Given the description of an element on the screen output the (x, y) to click on. 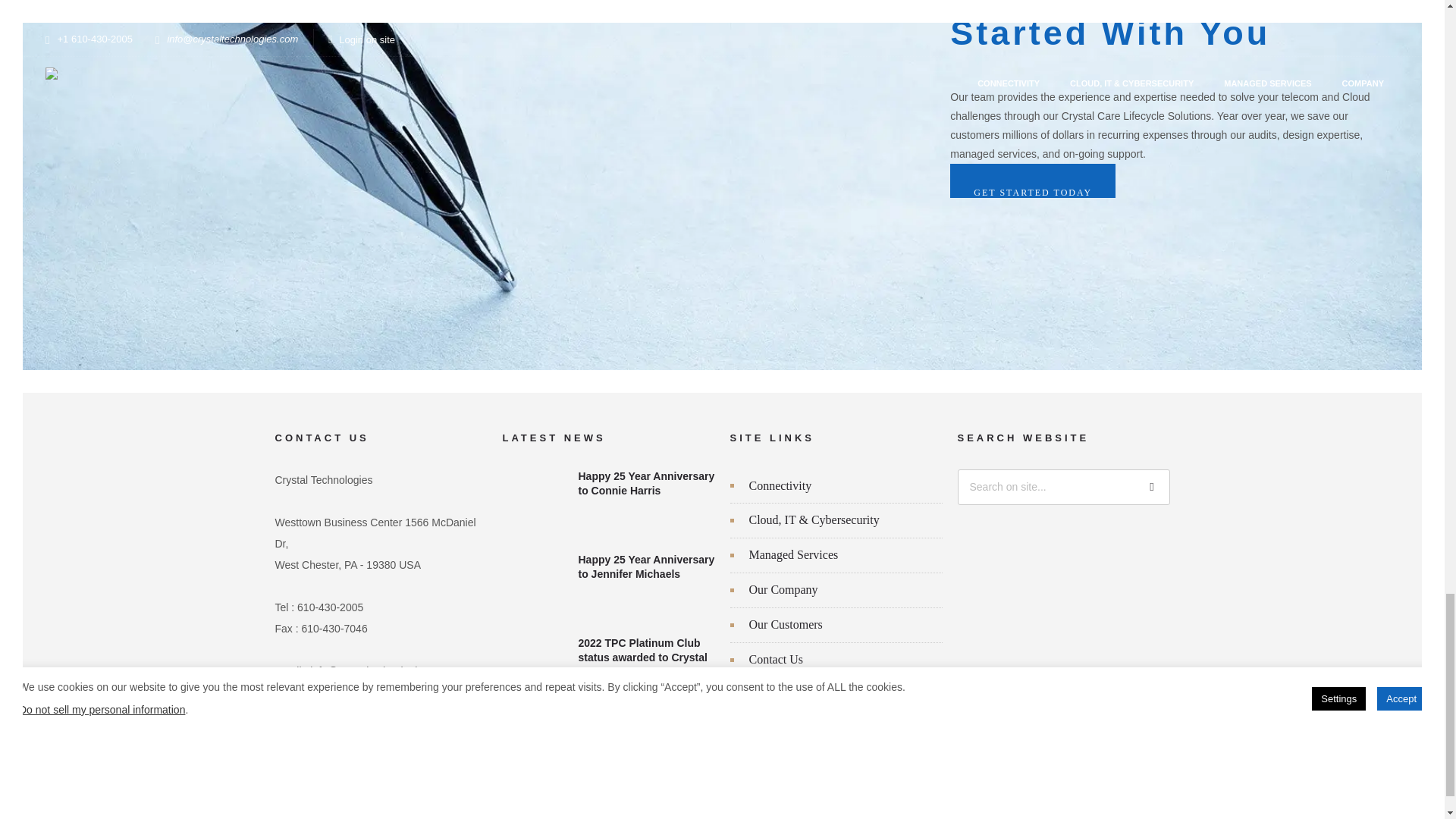
Twitter (333, 723)
Search (1152, 487)
LinkedIN (294, 723)
Permalink to Happy 25 Year Anniversary to Jennifer Michaels (646, 568)
Permalink to Happy 25 Year Anniversary to Connie Harris (646, 485)
